Given the description of an element on the screen output the (x, y) to click on. 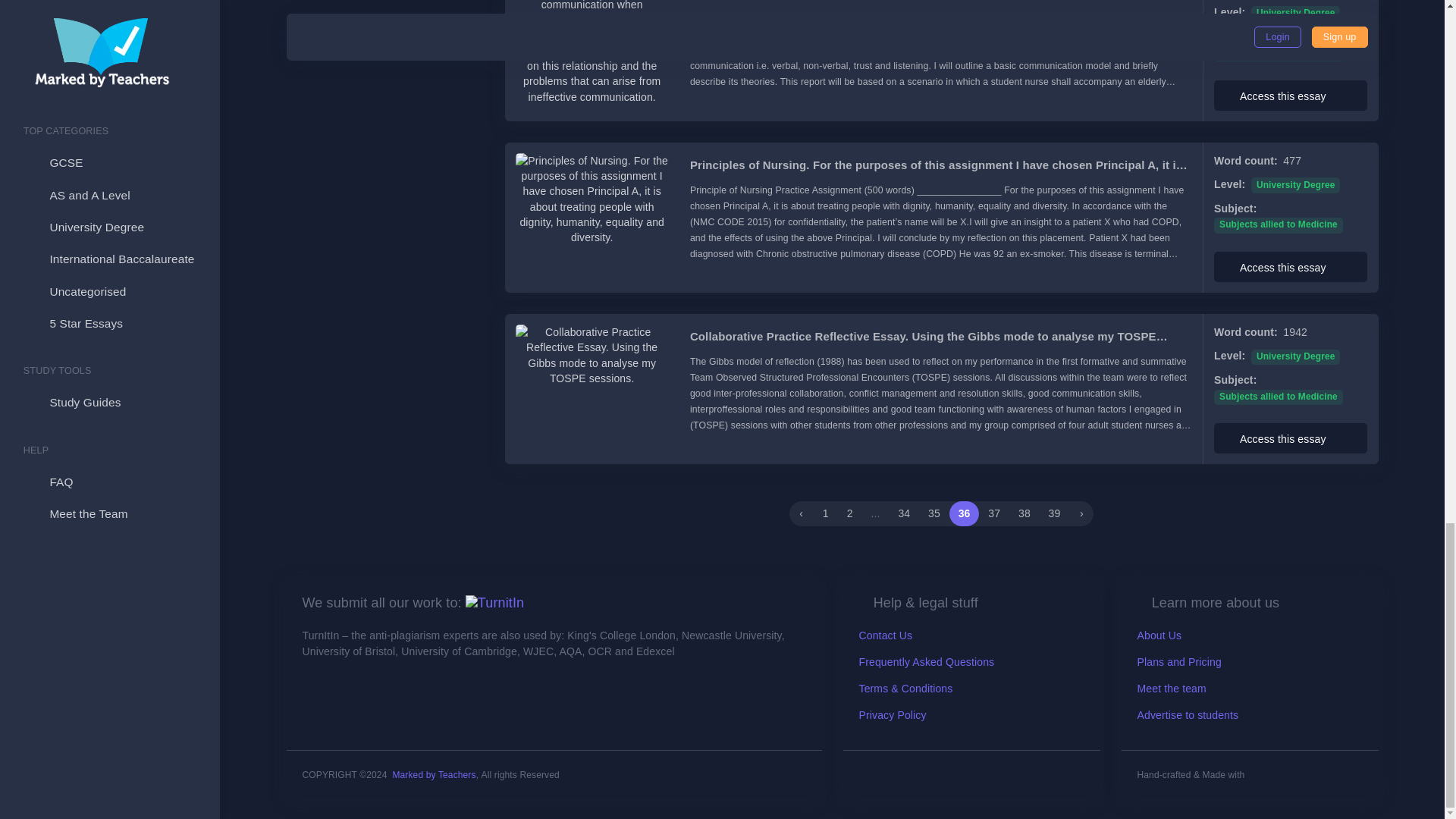
Contact Us (885, 635)
Marked by Teachers (433, 774)
Marked byTeachers About Us (494, 602)
Privacy Policy (892, 715)
Terms and Conditions (905, 688)
Frequently Asked Questions (926, 662)
